Given the description of an element on the screen output the (x, y) to click on. 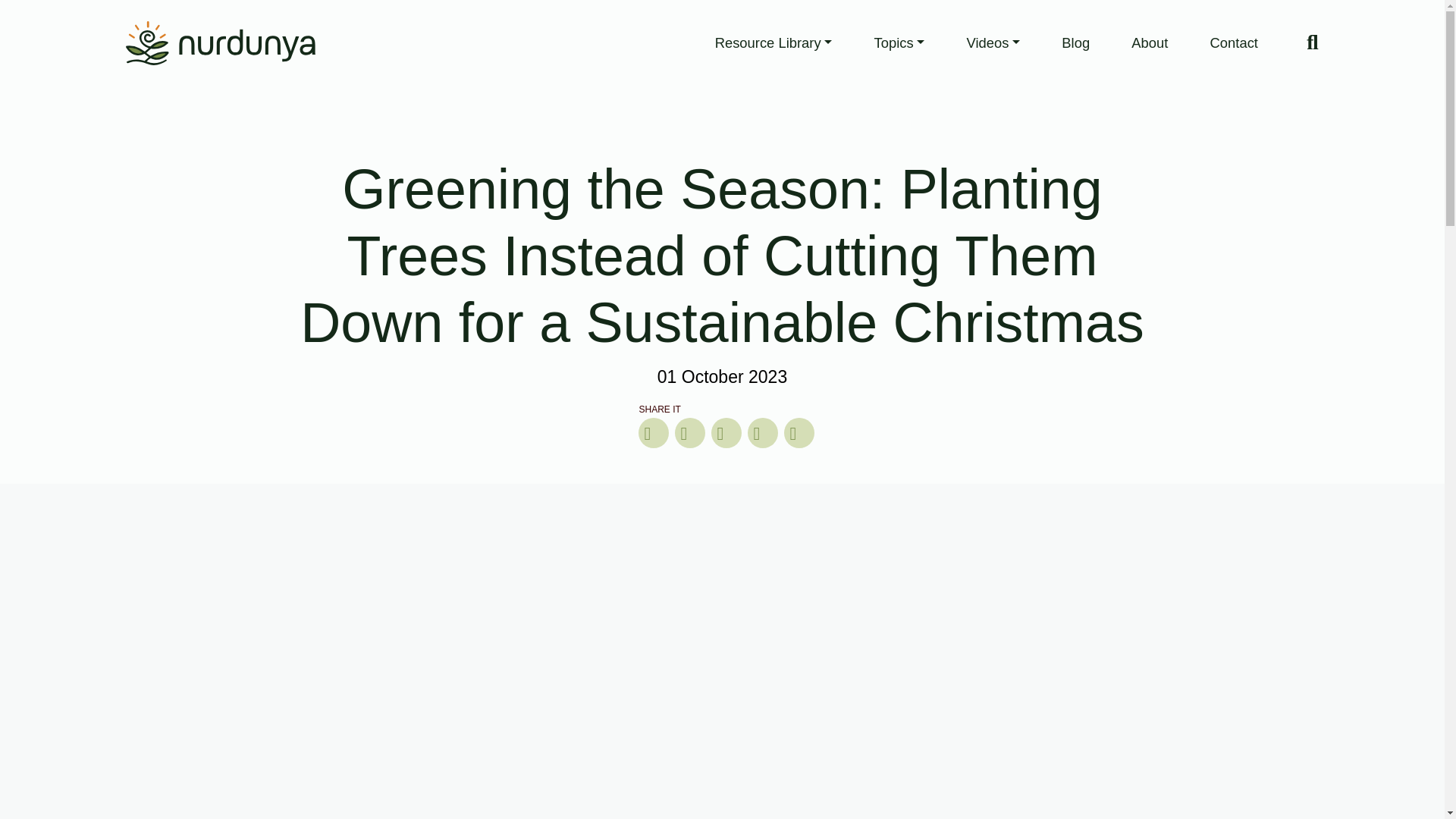
Videos (992, 42)
More Options (798, 432)
Contact (1234, 42)
Topics (898, 42)
Facebook (652, 432)
WhatsApp (762, 432)
Resource Library (773, 42)
About (1149, 42)
Blog (1075, 42)
LinkedIn (725, 432)
